Given the description of an element on the screen output the (x, y) to click on. 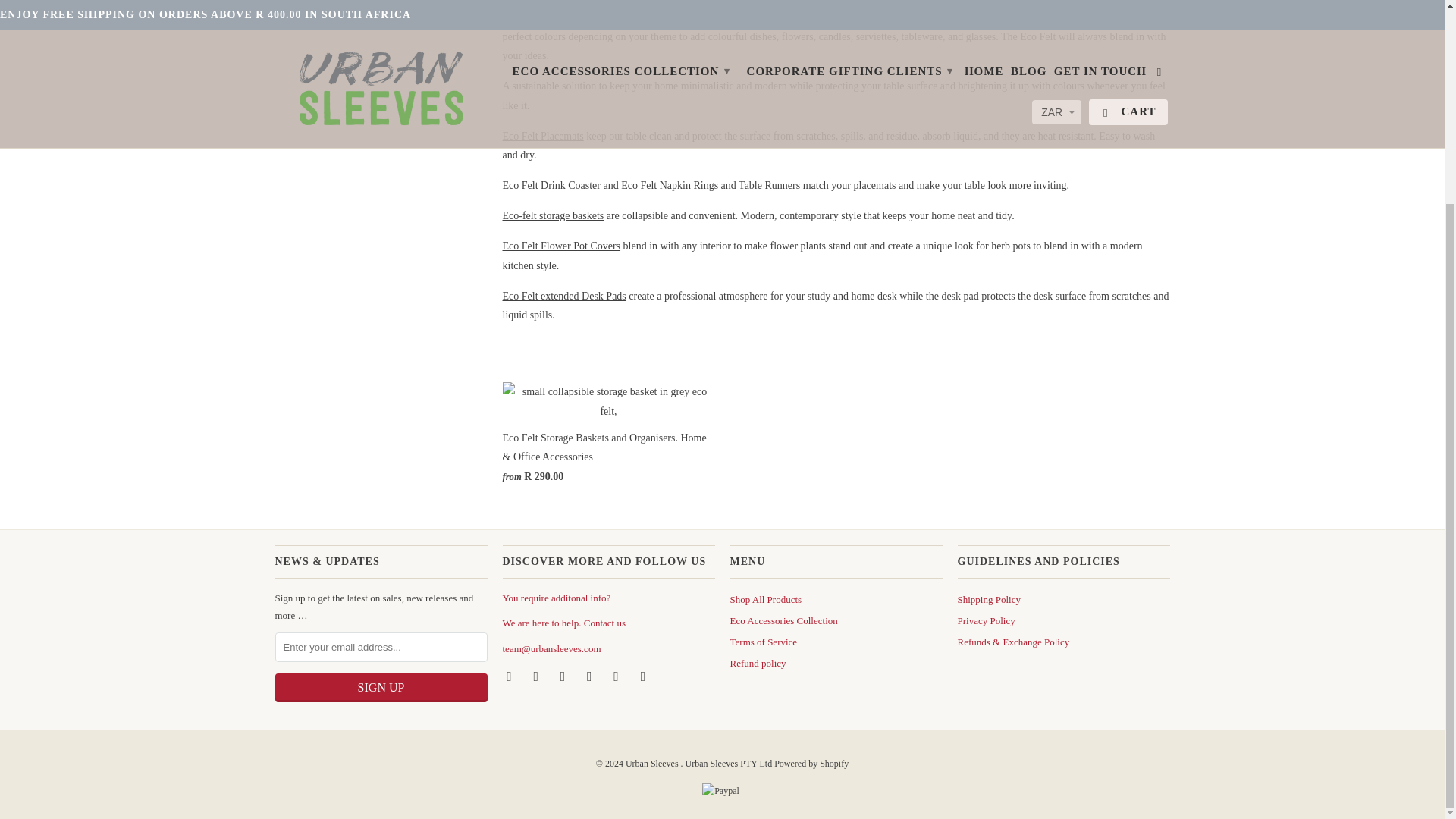
Urban Sleeves  on Facebook (510, 675)
Urban Sleeves  on LinkedIn (590, 675)
Urban Sleeves  on Instagram (618, 675)
Sign Up (380, 687)
Urban Sleeves  on Pinterest (564, 675)
Urban Sleeves  on YouTube (537, 675)
Email Urban Sleeves  (644, 675)
